Given the description of an element on the screen output the (x, y) to click on. 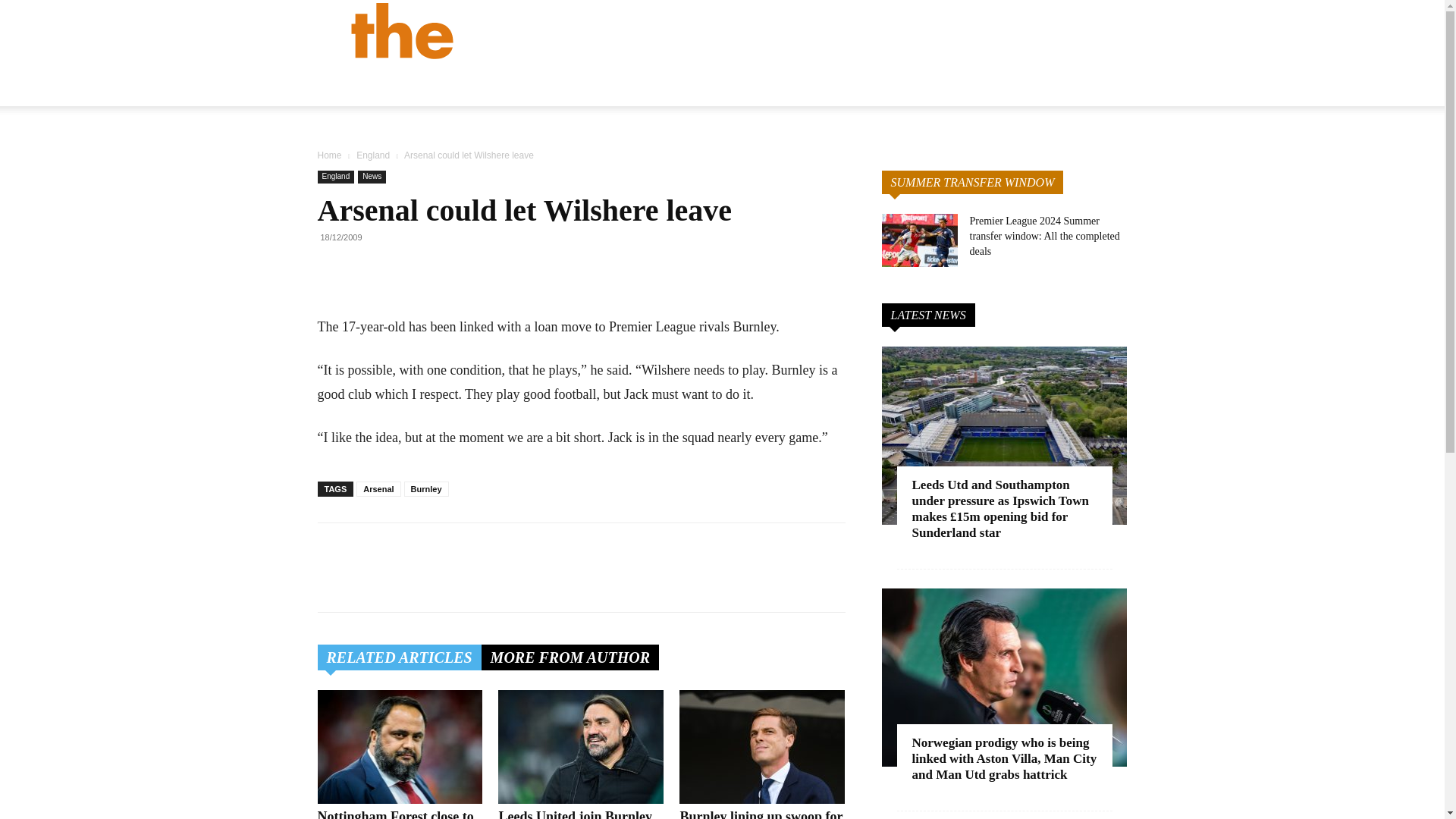
Home (328, 154)
bottomFacebookLike (430, 546)
FOOTBALL PODCASTS (1099, 86)
BETTING (982, 86)
Burnley (426, 488)
OPINION (822, 86)
England (373, 154)
News (371, 176)
FEATURES (902, 86)
Search (1134, 102)
